Given the description of an element on the screen output the (x, y) to click on. 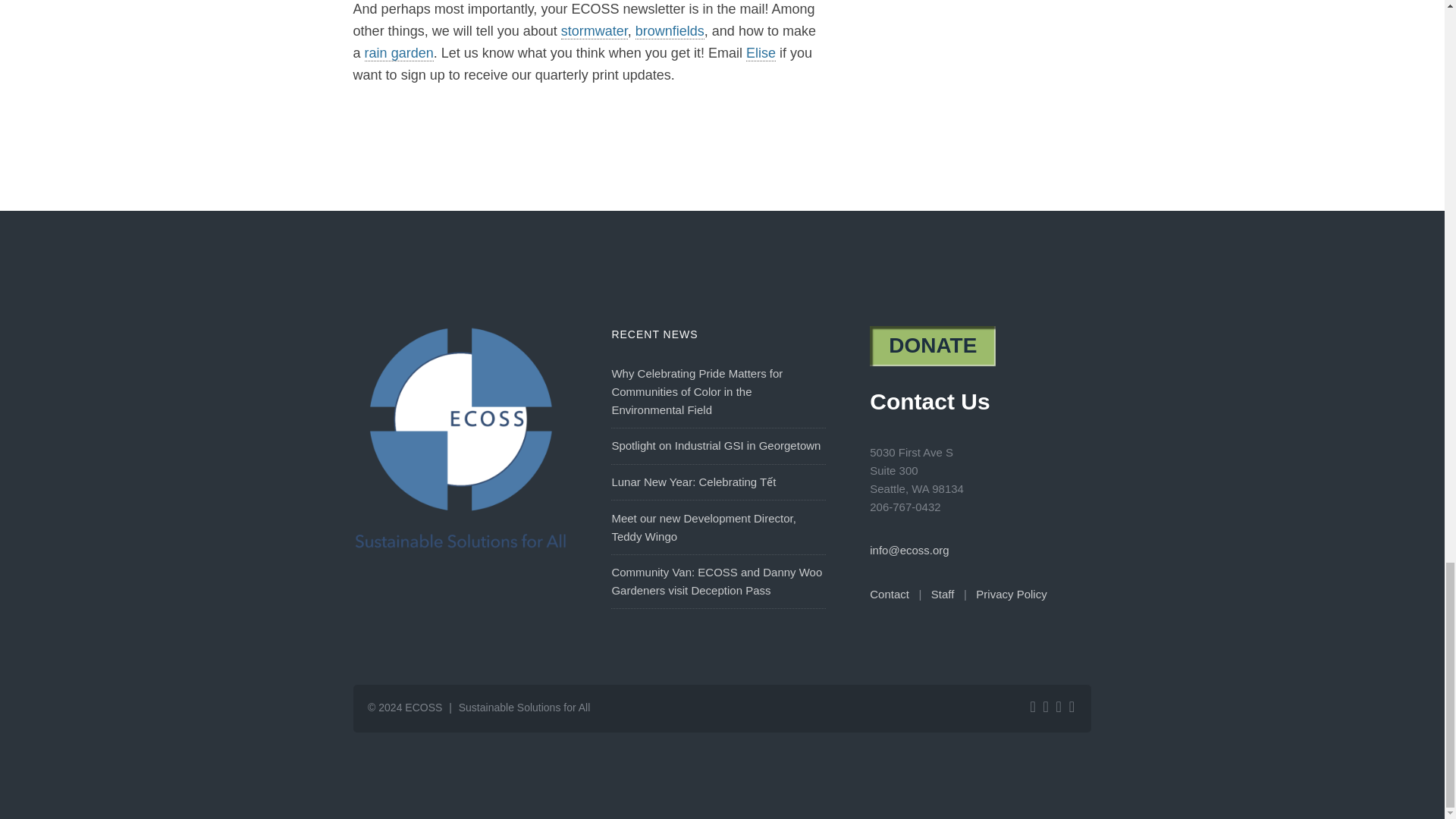
Elise (760, 53)
brownfields (669, 31)
stormwater (593, 31)
rain garden (399, 53)
